Given the description of an element on the screen output the (x, y) to click on. 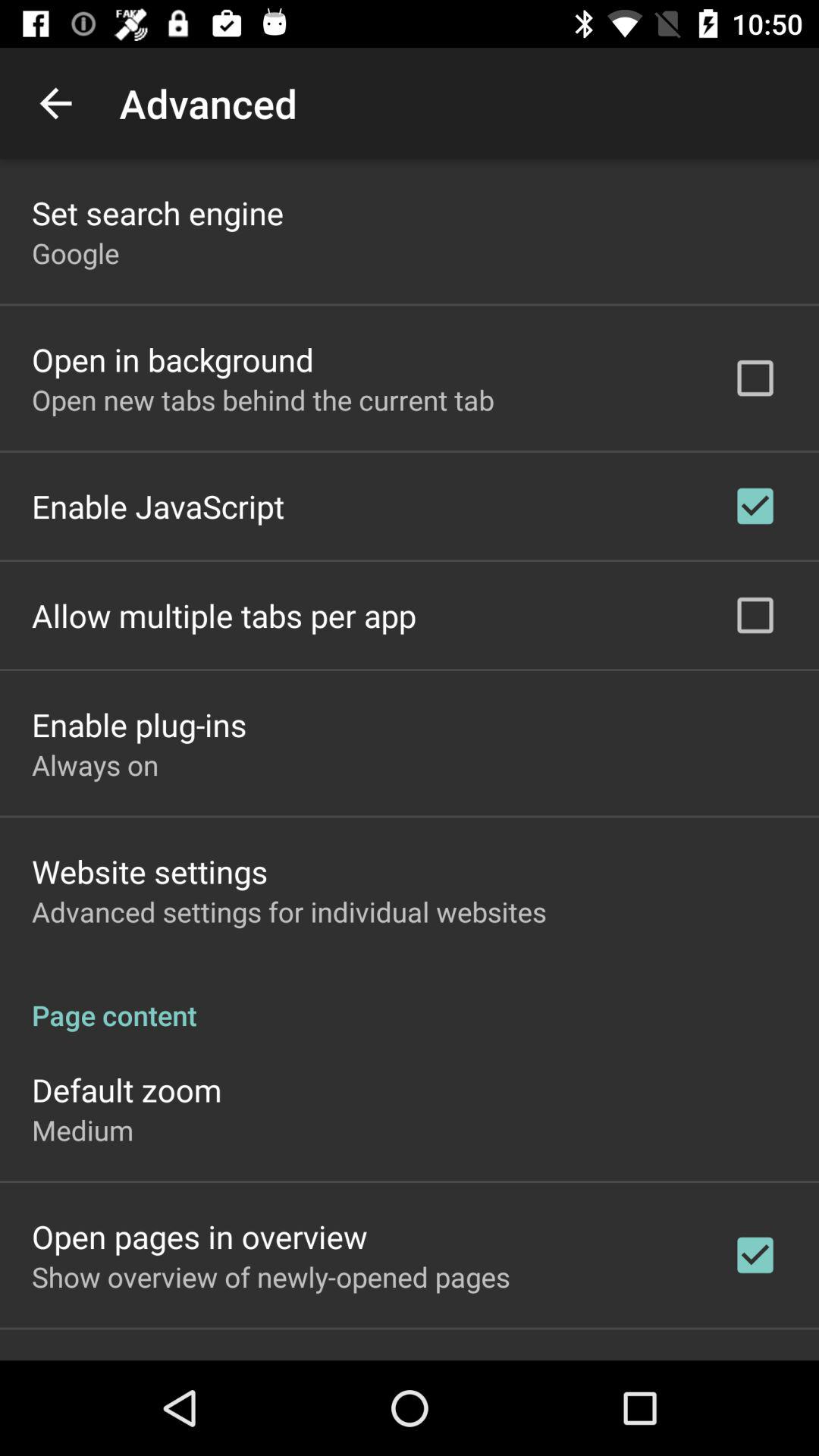
turn on app above the set search engine app (55, 103)
